Given the description of an element on the screen output the (x, y) to click on. 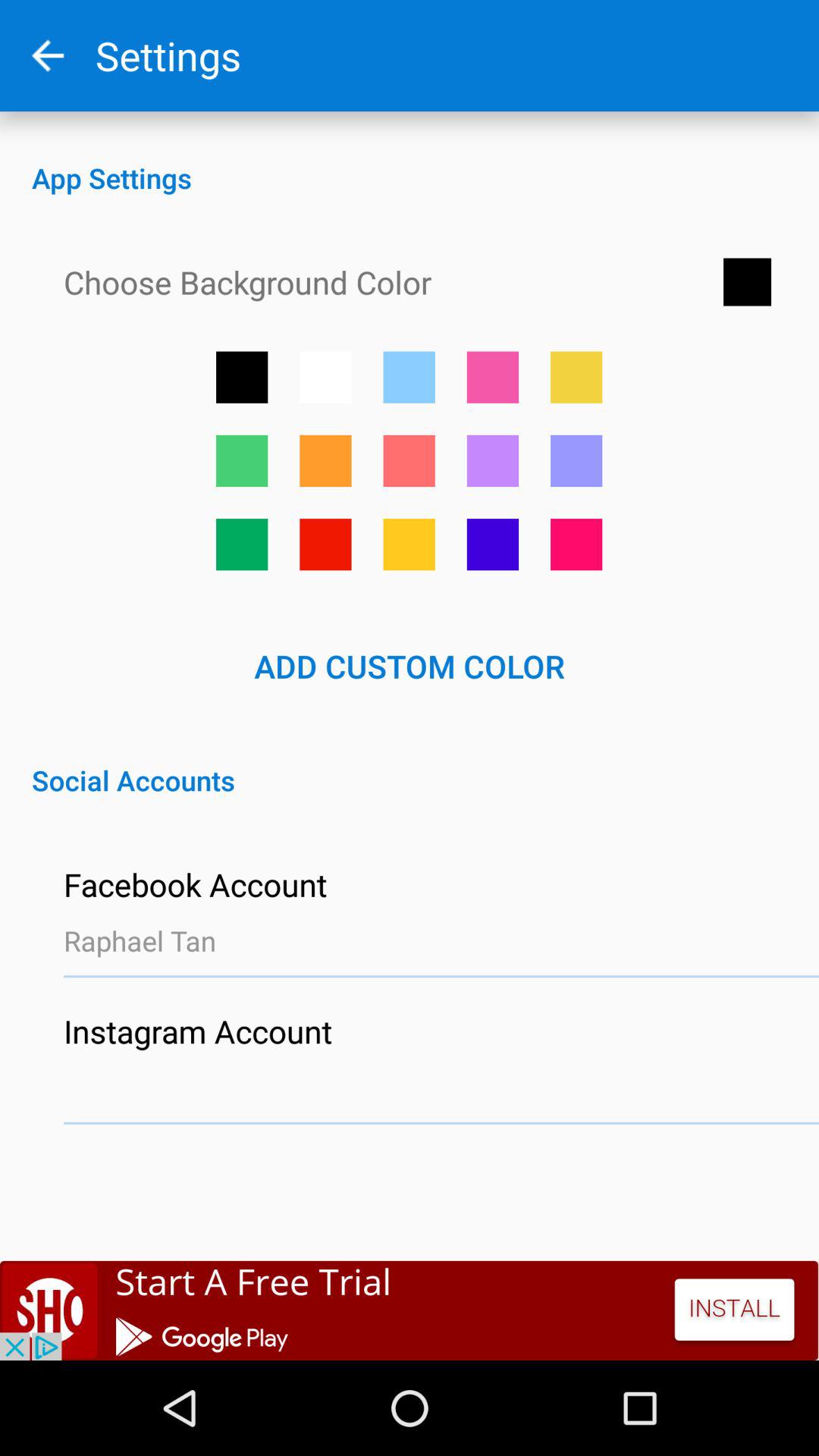
choose background color option (241, 377)
